Given the description of an element on the screen output the (x, y) to click on. 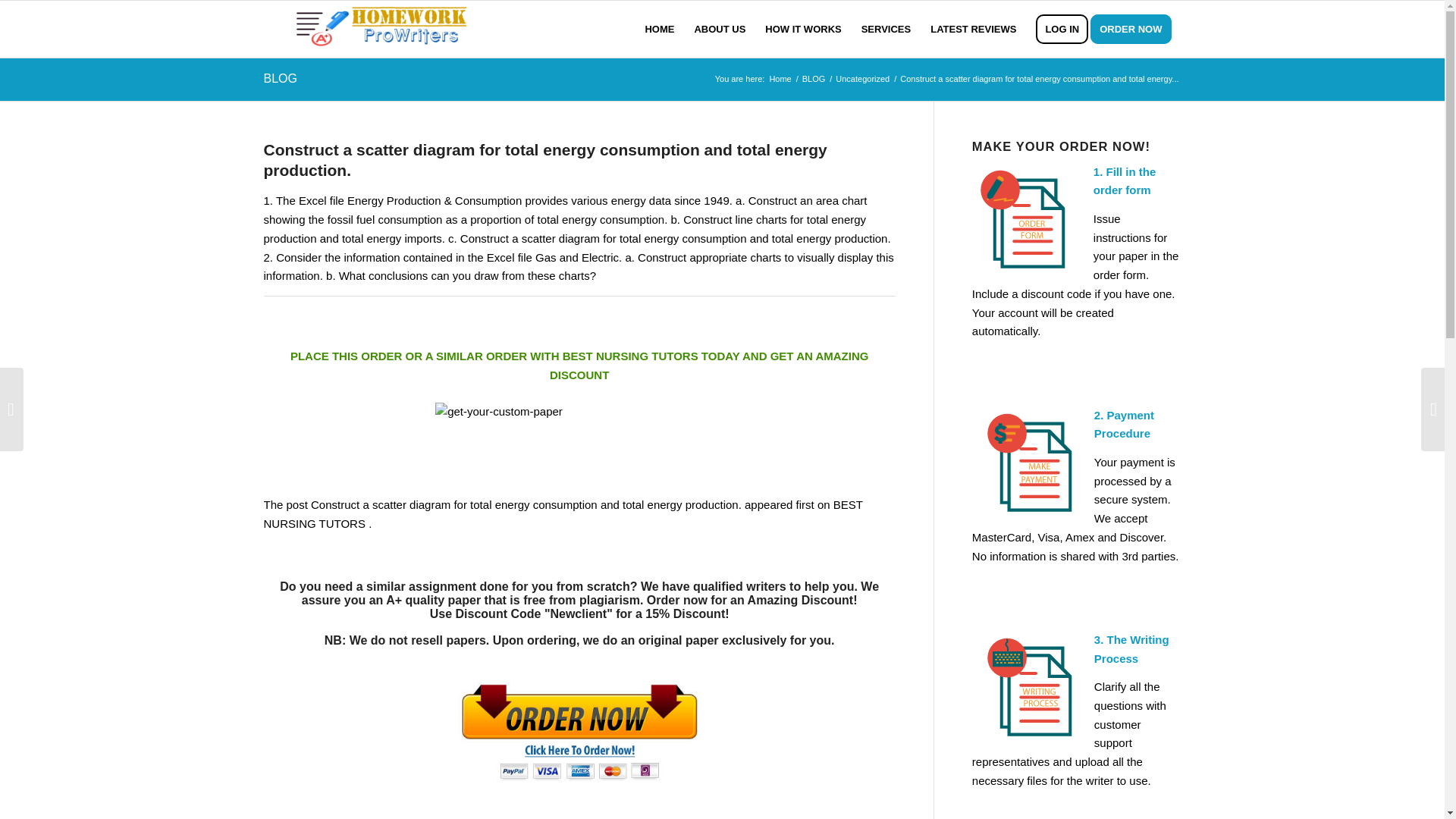
ORDER NOW (1135, 28)
LATEST REVIEWS (973, 28)
ABOUT US (719, 28)
Home (780, 79)
HOW IT WORKS (802, 28)
Permanent Link: BLOG (280, 78)
homeworkprowriters (780, 79)
LOG IN (1061, 28)
BLOG (280, 78)
BLOG (813, 79)
